Given the description of an element on the screen output the (x, y) to click on. 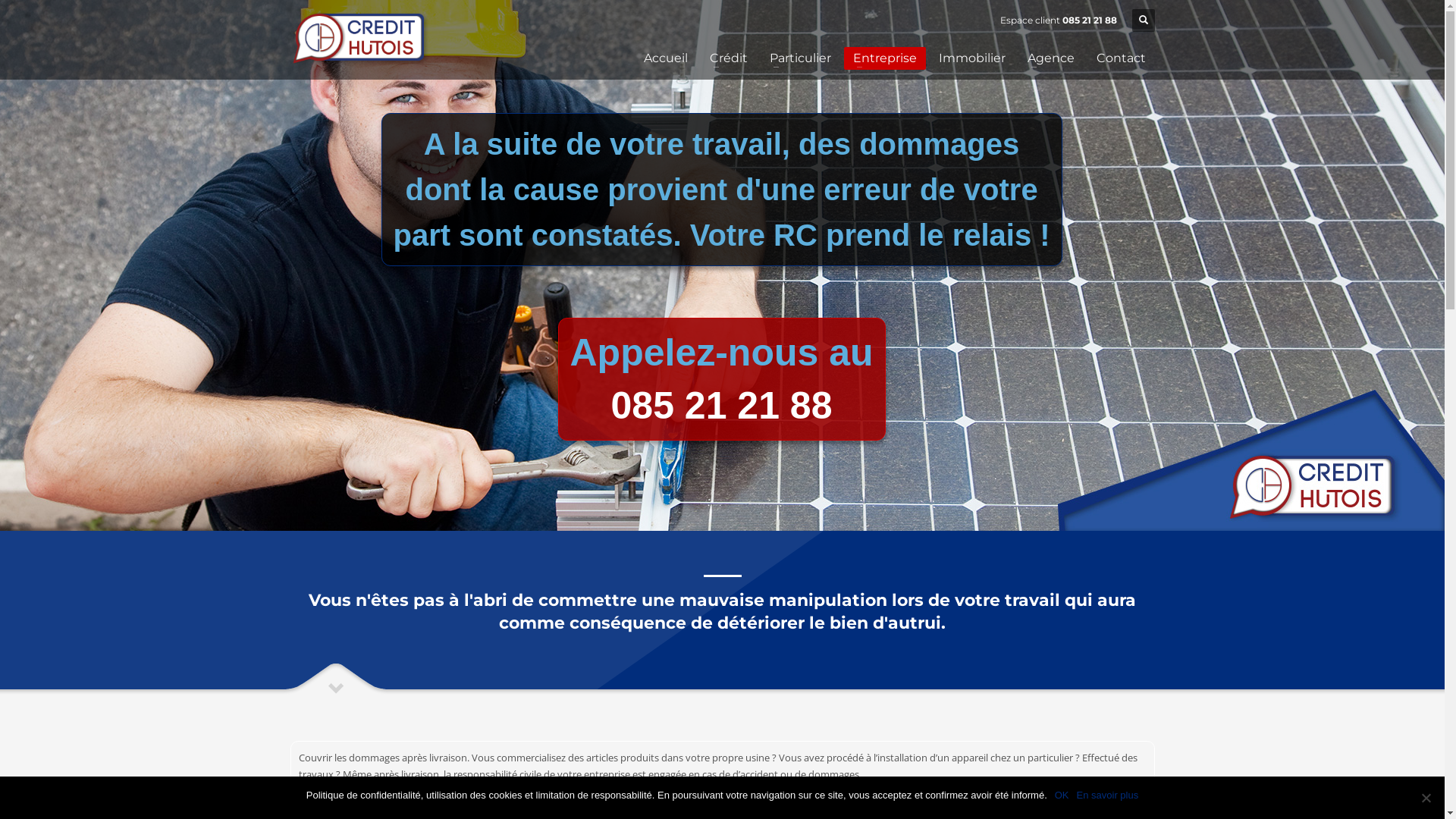
Contact Element type: text (1120, 58)
Non Element type: hover (1425, 797)
En savoir plus Element type: text (1107, 795)
Accueil Element type: text (664, 58)
Entreprise Element type: text (884, 58)
Particulier Element type: text (799, 58)
Immobilier Element type: text (971, 58)
Espace client Element type: text (1029, 19)
OK Element type: text (1061, 795)
Agence Element type: text (1049, 58)
